Given the description of an element on the screen output the (x, y) to click on. 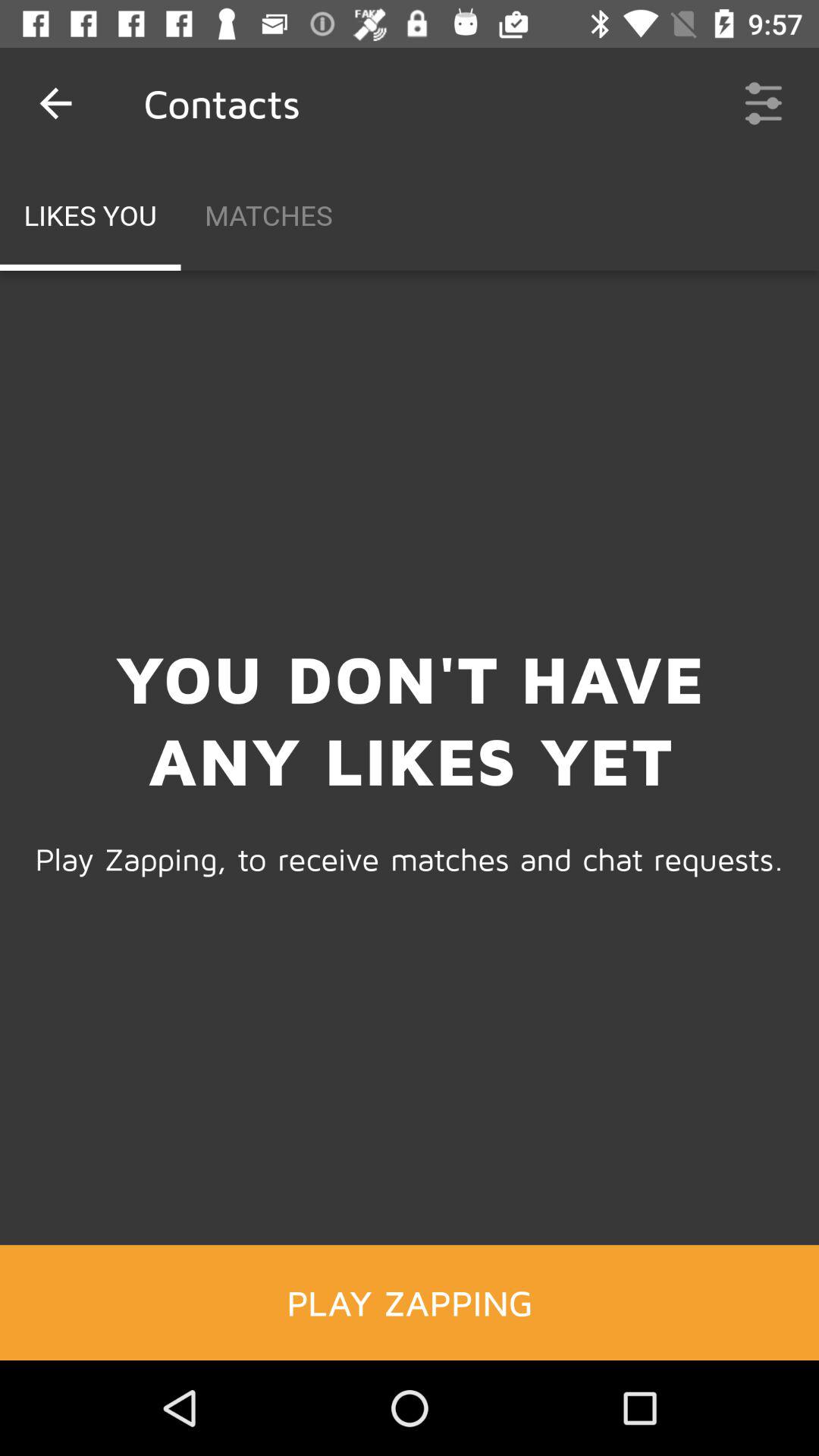
turn off the icon next to matches item (763, 103)
